Given the description of an element on the screen output the (x, y) to click on. 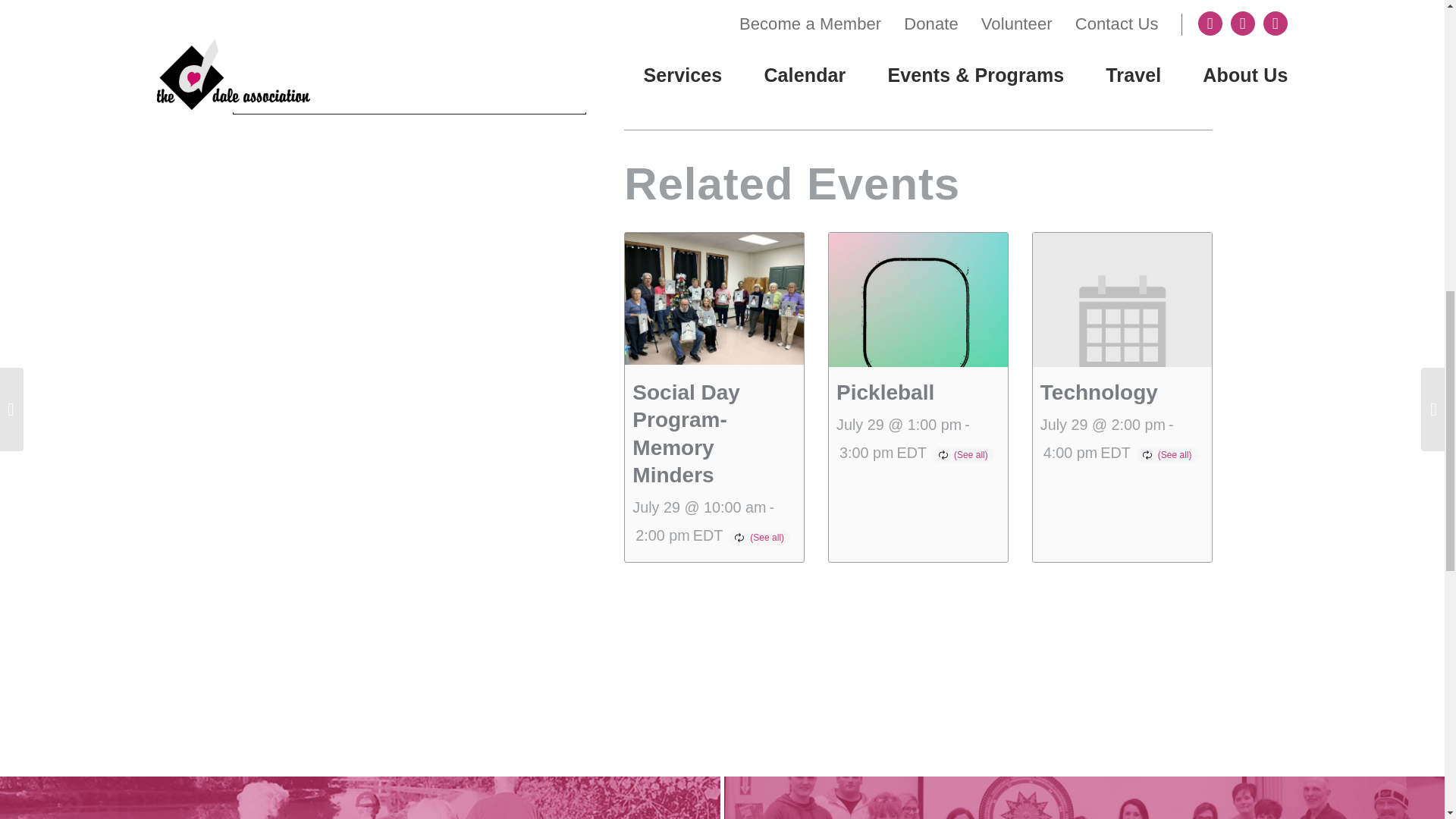
Google maps iframe displaying the address to Senior Centre (402, 38)
